Given the description of an element on the screen output the (x, y) to click on. 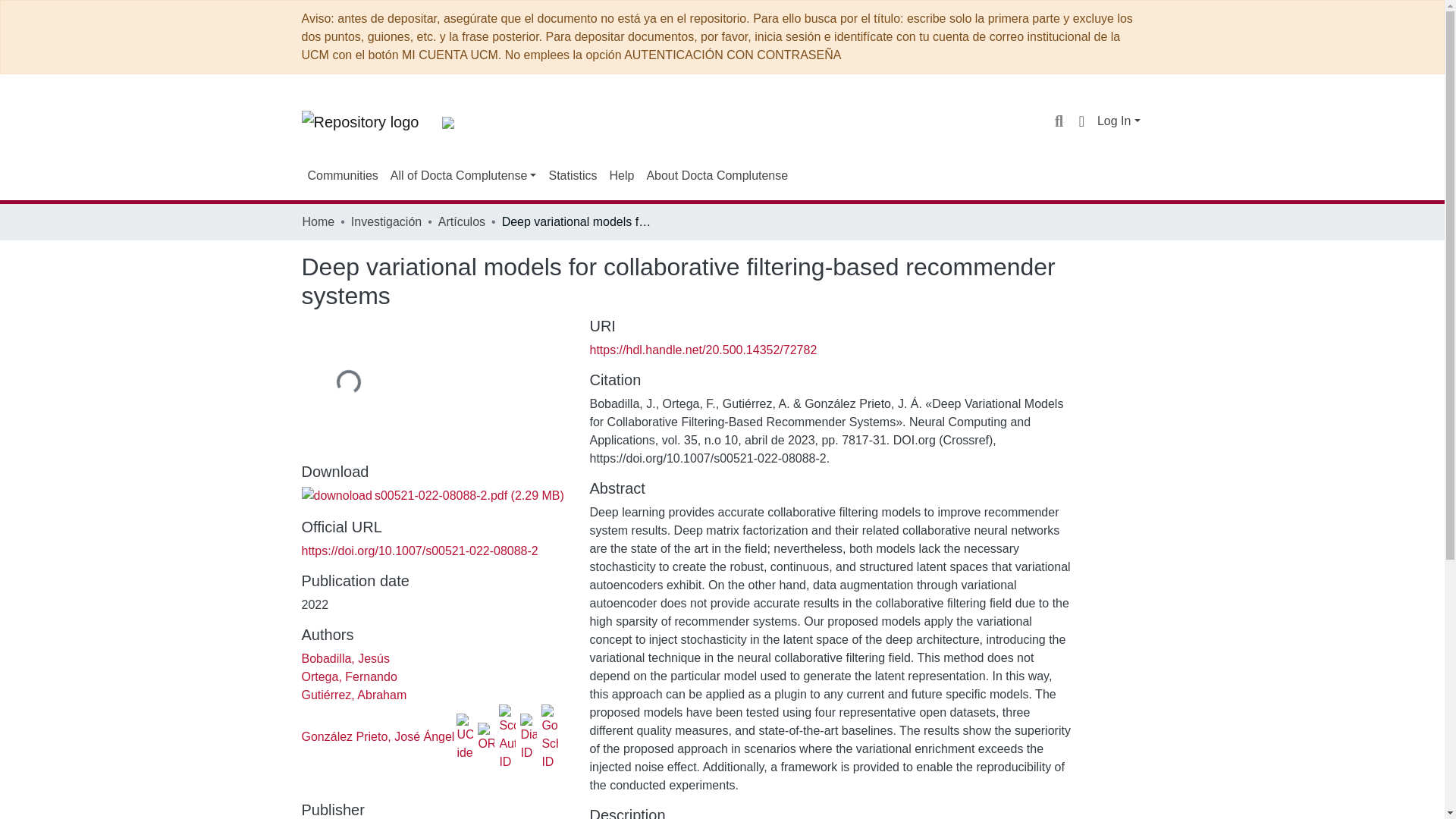
Help (621, 175)
Help (621, 175)
Communities (342, 175)
Communities (342, 175)
Log In (1118, 120)
Ortega, Fernando (349, 676)
All of Docta Complutense (463, 175)
Statistics (571, 175)
Home (317, 221)
Statistics (571, 175)
